Given the description of an element on the screen output the (x, y) to click on. 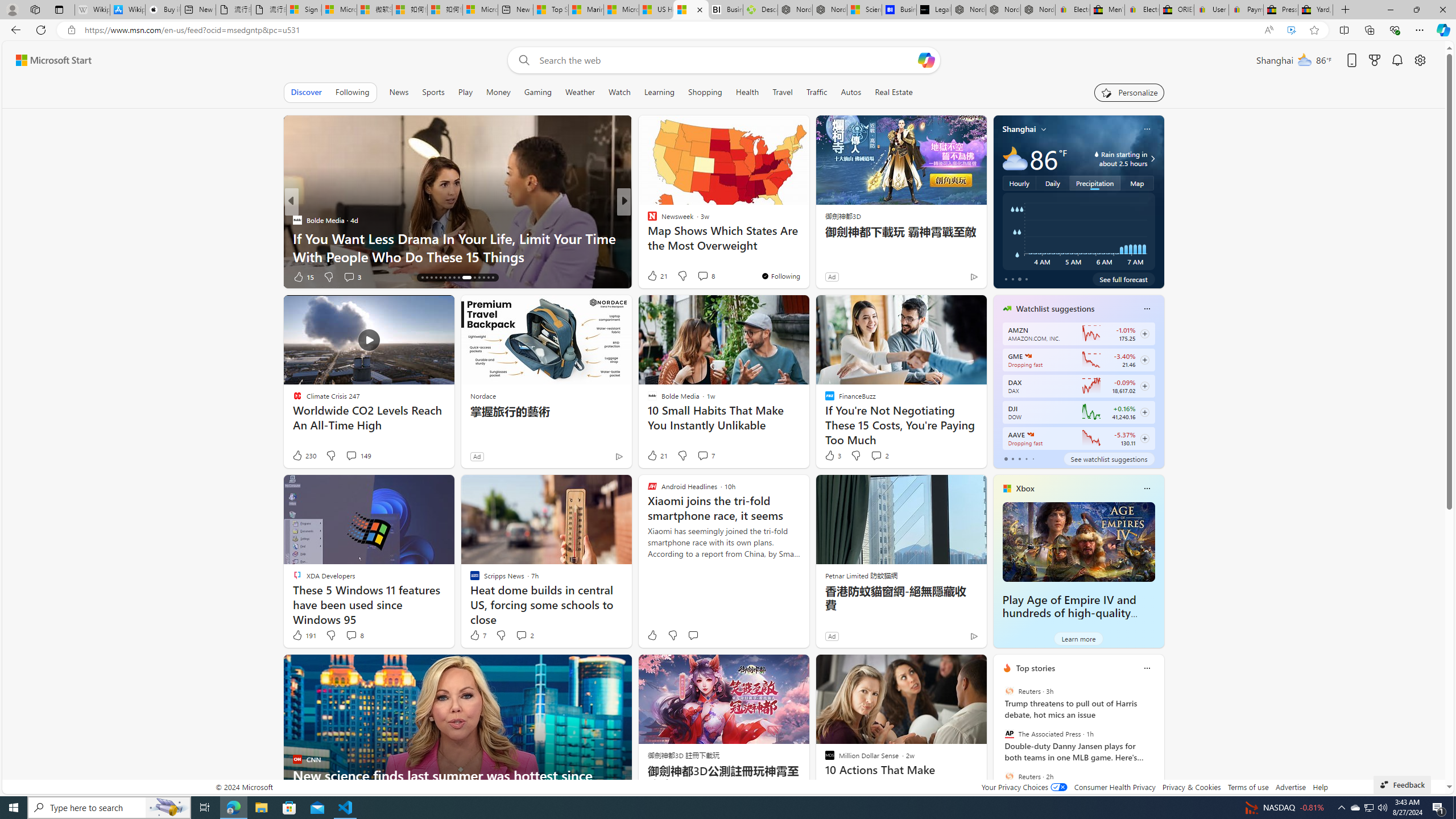
Personalize your feed" (1129, 92)
AutomationID: tab-24 (458, 277)
37 Like (652, 276)
View comments 3 Comment (351, 276)
AutomationID: tab-25 (466, 277)
